Given the description of an element on the screen output the (x, y) to click on. 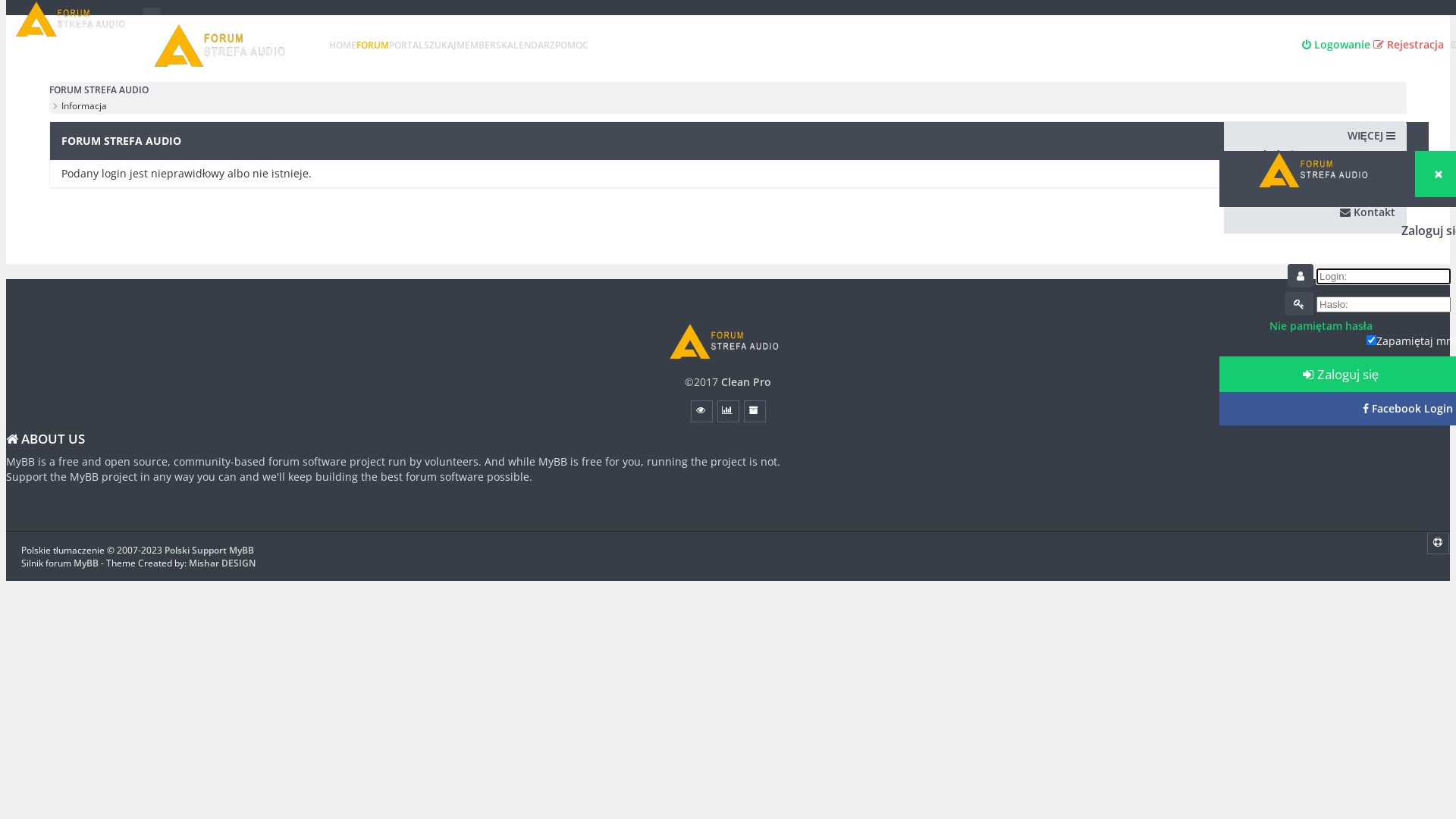
Lite (Archive) Mode Element type: hover (754, 411)
FORUM STREFA AUDIO Element type: hover (1316, 169)
MyBB Element type: text (85, 562)
SZUKAJ Element type: text (439, 44)
MEMBERS Element type: text (478, 44)
Logowanie Element type: text (1336, 44)
FORUM STREFA AUDIO Element type: hover (74, 18)
HOME Element type: text (342, 44)
FORUM STREFA AUDIO Element type: hover (727, 341)
Polski Support MyBB Element type: text (209, 548)
Mishar DESIGN Element type: text (220, 562)
FORUM Element type: text (372, 44)
KALENDARZ Element type: text (528, 44)
FORUM STREFA AUDIO Element type: text (98, 89)
POMOC Element type: text (571, 44)
Facebook Login Element type: text (1407, 408)
Forum Stats Element type: hover (728, 411)
View New Posts Element type: hover (701, 411)
Rejestracja Element type: text (1408, 44)
PORTAL Element type: text (406, 44)
Clean Pro Element type: text (746, 381)
FORUM STREFA AUDIO Element type: hover (224, 45)
Kontakt Element type: text (1367, 211)
